Given the description of an element on the screen output the (x, y) to click on. 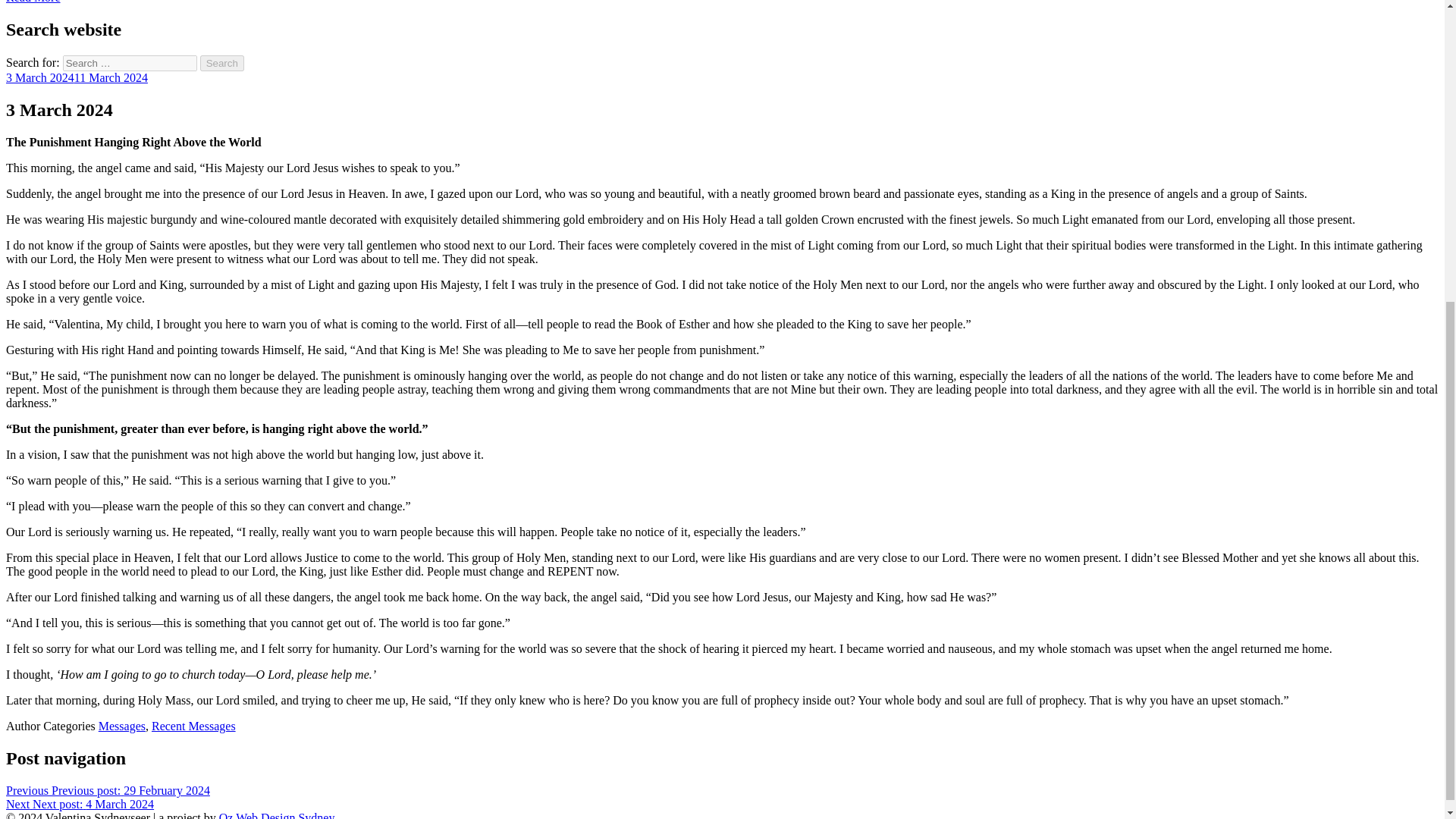
3 March 202411 March 2024 (76, 77)
Search (222, 63)
Read More (33, 2)
Previous Previous post: 29 February 2024 (107, 789)
Messages (122, 725)
Recent Messages (193, 725)
Next Next post: 4 March 2024 (79, 803)
Search (222, 63)
Permalink to 3 March 2024 (76, 77)
Search (222, 63)
